Given the description of an element on the screen output the (x, y) to click on. 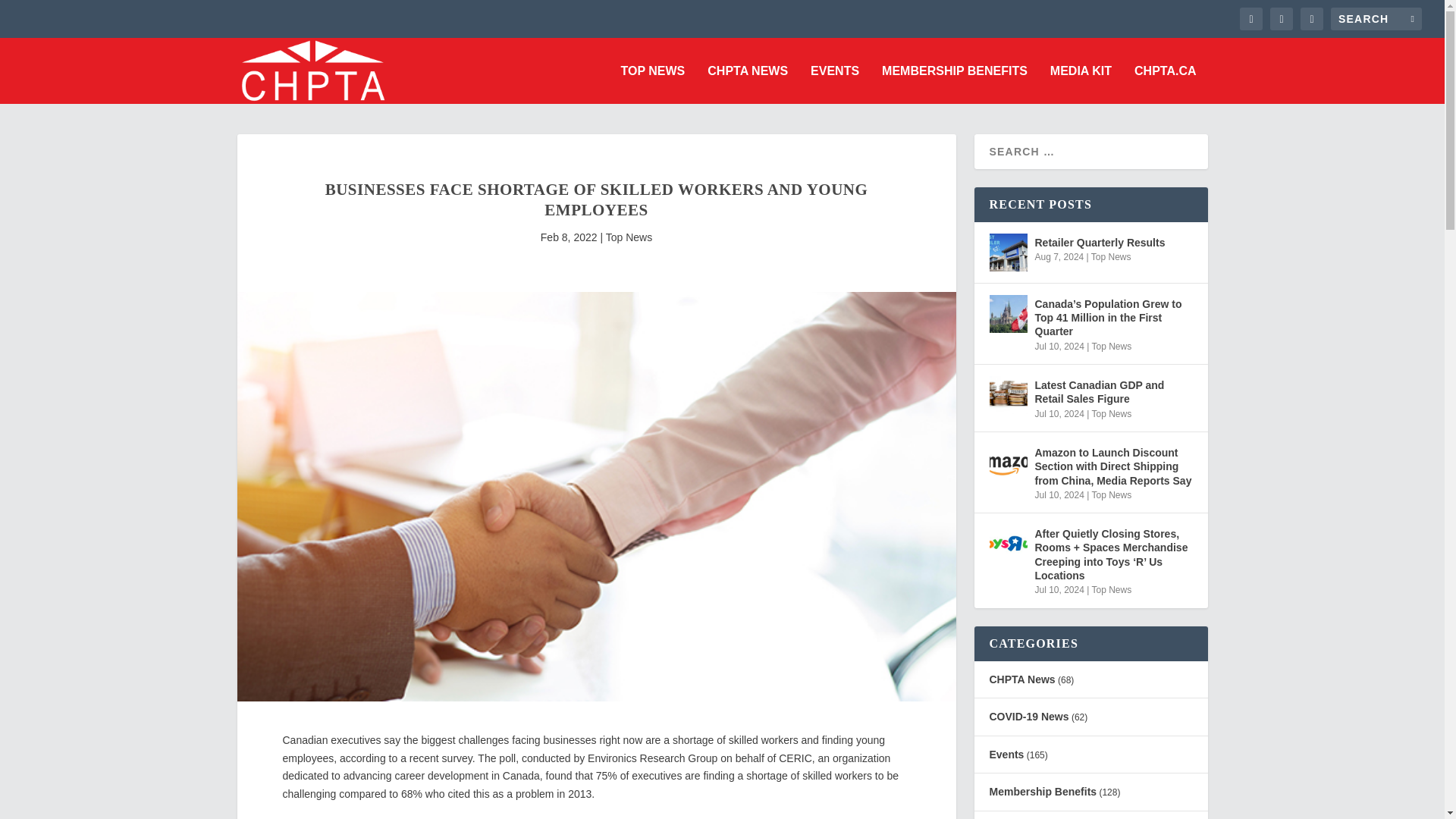
TOP NEWS (653, 84)
Retailer Quarterly Results (1007, 252)
Search (31, 13)
Top News (1110, 346)
Top News (1110, 256)
Top News (628, 236)
MEDIA KIT (1080, 84)
EVENTS (834, 84)
CHPTA.CA (1164, 84)
Search for: (1376, 18)
